Given the description of an element on the screen output the (x, y) to click on. 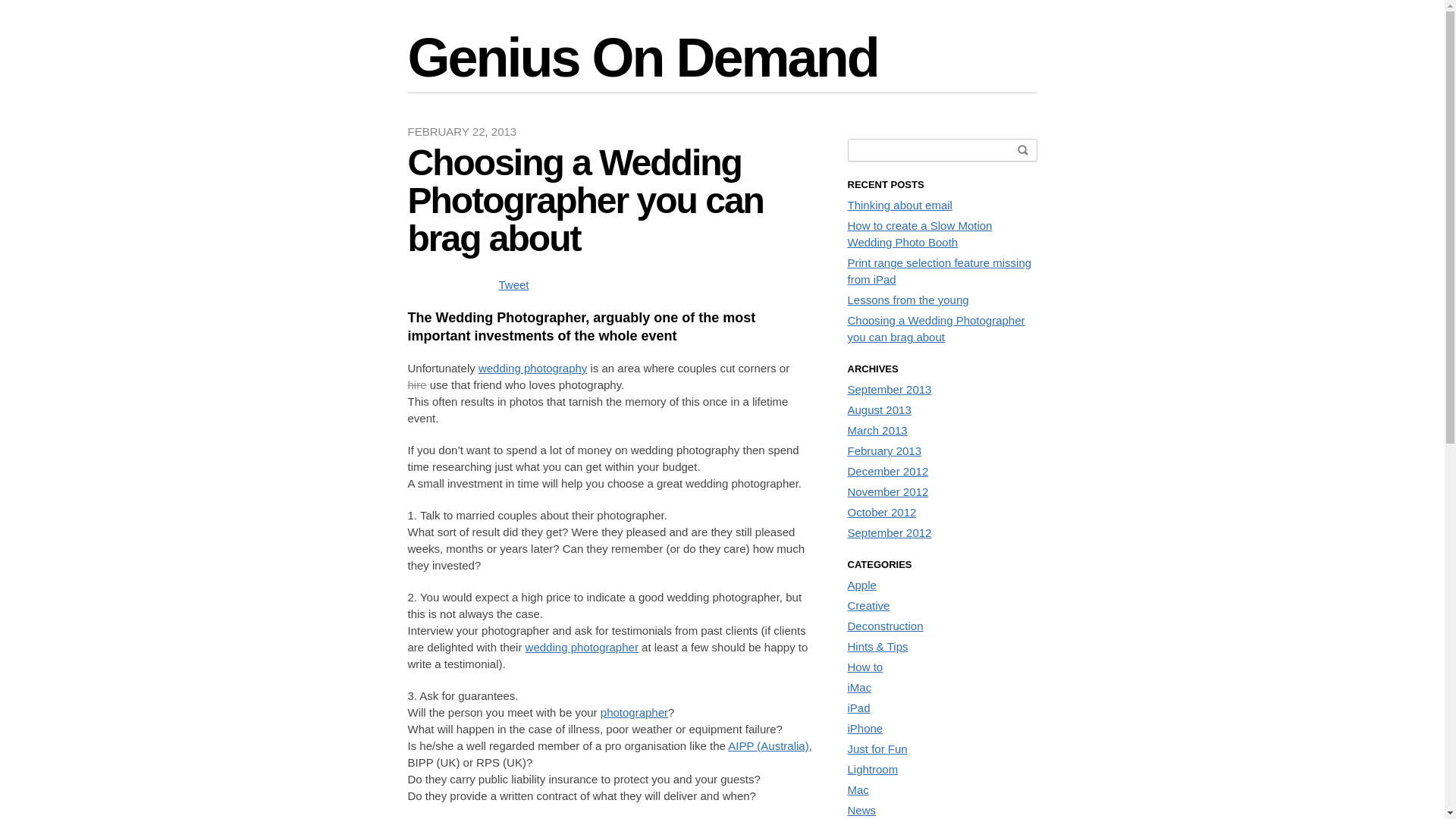
Choosing a Wedding Photographer you can brag about Element type: text (936, 328)
February 2013 Element type: text (884, 450)
How to create a Slow Motion Wedding Photo Booth Element type: text (919, 233)
Thinking about email Element type: text (899, 204)
October 2012 Element type: text (881, 511)
September 2013 Element type: text (889, 388)
March 2013 Element type: text (877, 429)
Mac Element type: text (858, 789)
iPhone Element type: text (865, 727)
Hints & Tips Element type: text (877, 646)
Print range selection feature missing from iPad Element type: text (939, 270)
Deconstruction Element type: text (885, 625)
Tweet Element type: text (513, 284)
August 2013 Element type: text (879, 409)
Just for Fun Element type: text (877, 748)
September 2012 Element type: text (889, 532)
December 2012 Element type: text (887, 470)
Genius On Demand Element type: text (642, 57)
Lessons from the young Element type: text (908, 299)
Apple Element type: text (861, 584)
Creative Element type: text (868, 605)
wedding photographer Element type: text (581, 646)
November 2012 Element type: text (887, 491)
How to Element type: text (865, 666)
iMac Element type: text (859, 686)
photographer Element type: text (634, 712)
AIPP (Australia) Element type: text (768, 745)
wedding photography Element type: text (532, 367)
News Element type: text (861, 809)
iPad Element type: text (858, 707)
Search Element type: text (1022, 149)
Lightroom Element type: text (872, 768)
